Given the description of an element on the screen output the (x, y) to click on. 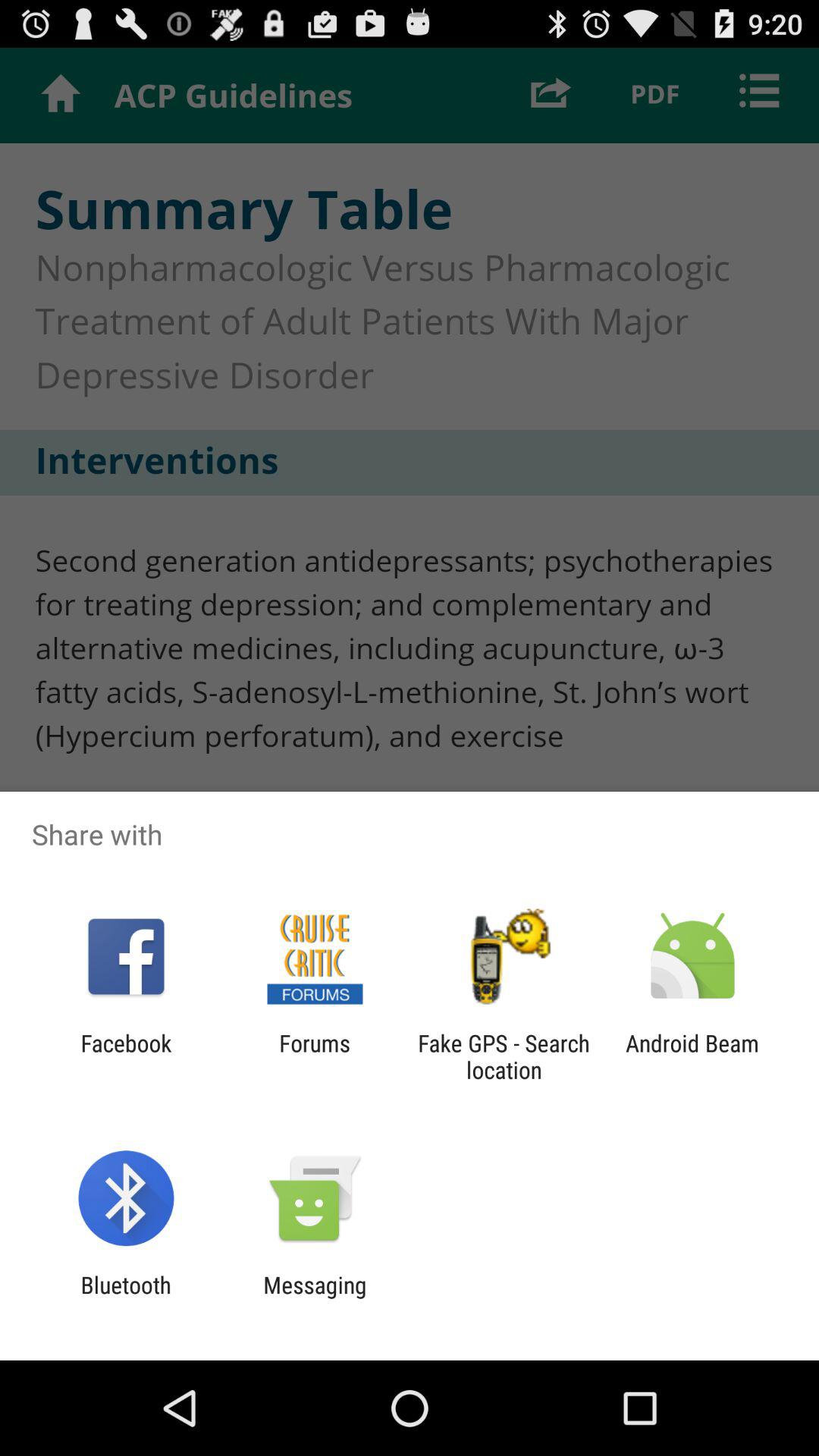
turn on the icon next to the fake gps search (314, 1056)
